Given the description of an element on the screen output the (x, y) to click on. 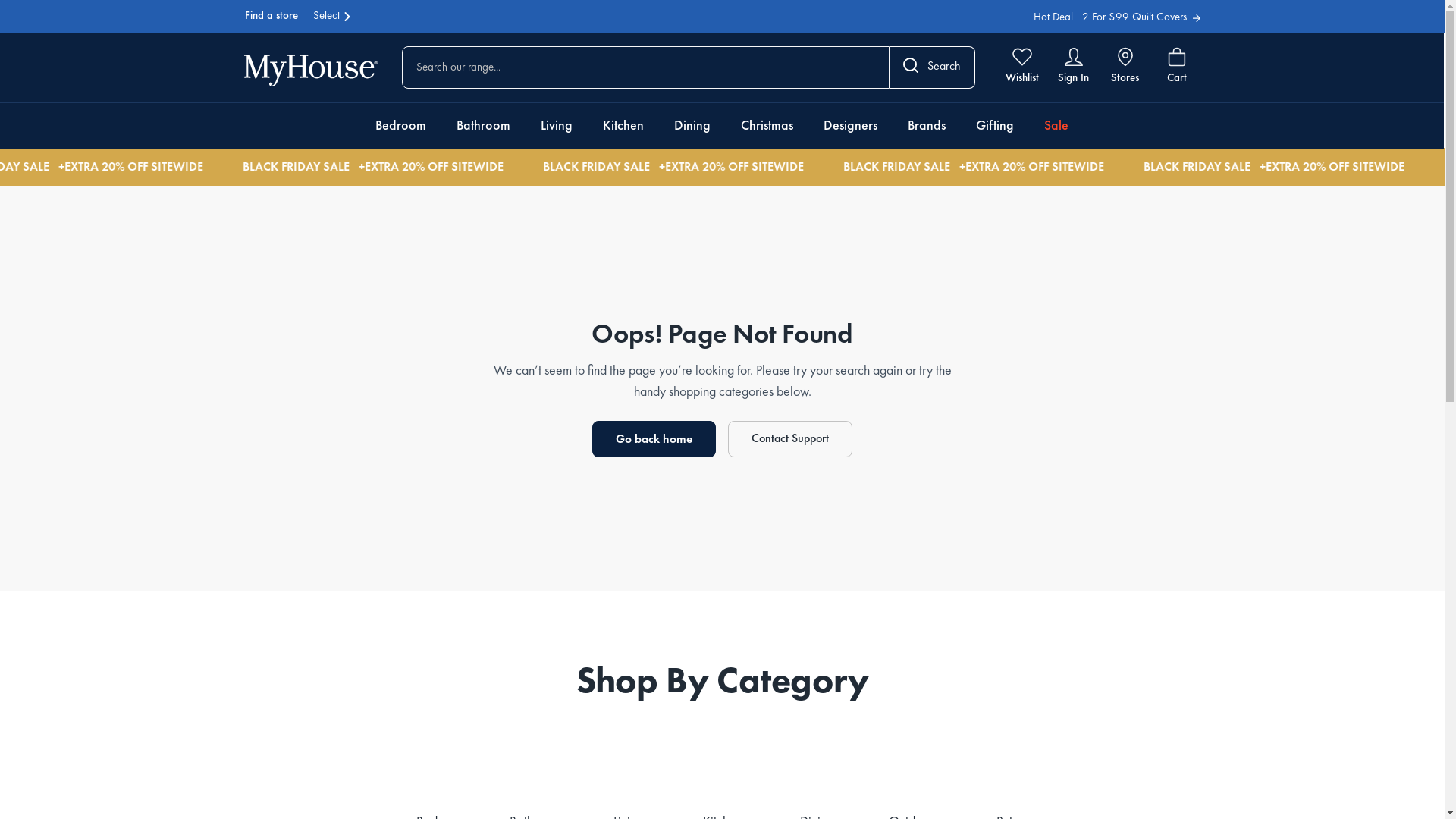
Cart Element type: text (1176, 67)
Stores Element type: text (1125, 67)
Sign In Element type: text (1073, 67)
Sale Element type: text (1055, 125)
Living Element type: text (555, 125)
Dining Element type: text (691, 125)
Free Shipping on Orders Over $99 | Shop Now Element type: text (1083, 18)
Wishlist Element type: text (1021, 67)
Gifting Element type: text (994, 125)
Christmas Element type: text (765, 125)
Kitchen Element type: text (622, 125)
Bedroom Element type: text (399, 125)
Go back home Element type: text (653, 438)
Contact Support Element type: text (790, 438)
Brands Element type: text (925, 125)
Designers Element type: text (850, 125)
Bathroom Element type: text (483, 125)
Search Element type: text (931, 67)
Select Element type: text (331, 16)
